Given the description of an element on the screen output the (x, y) to click on. 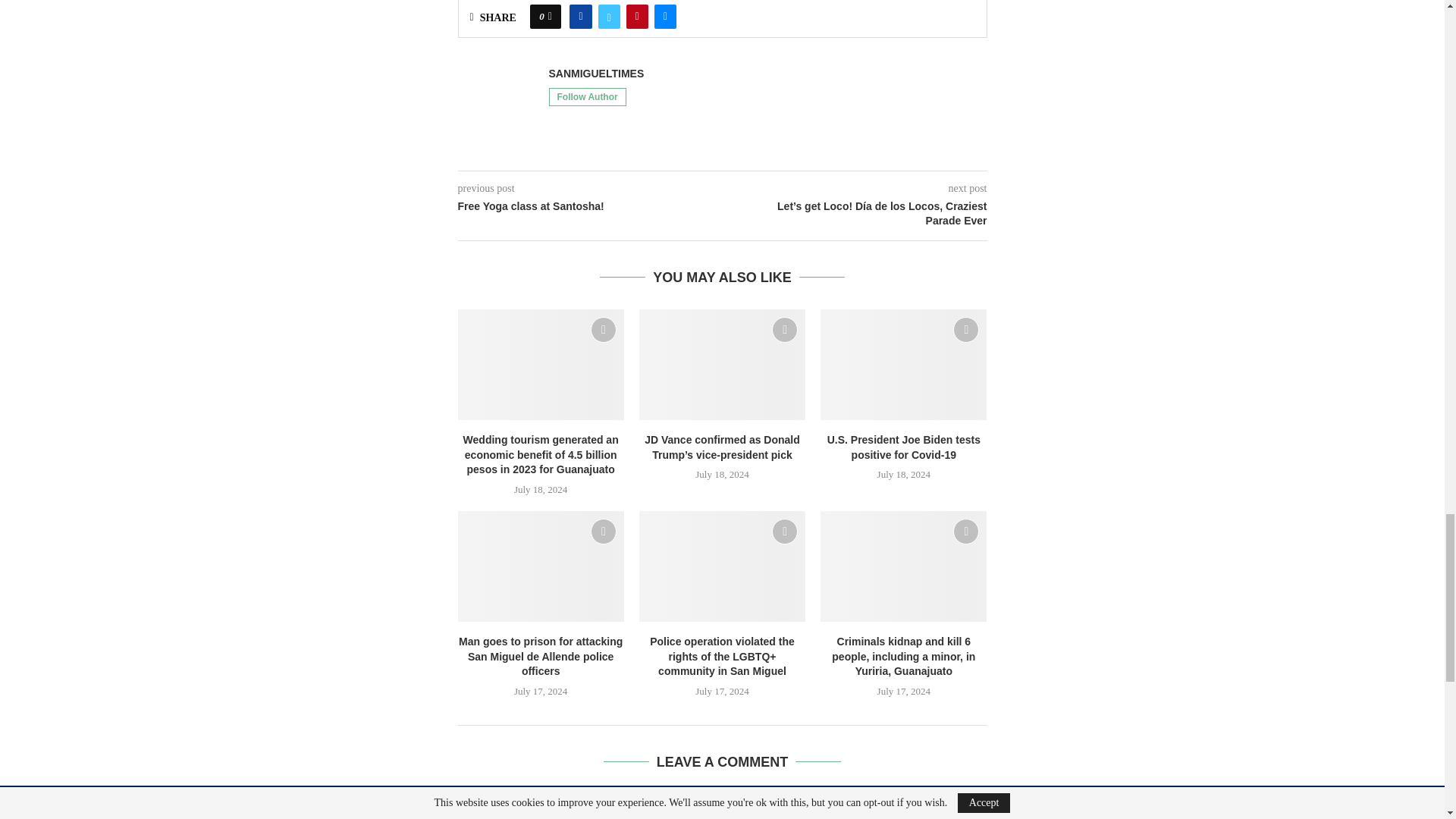
Like (549, 16)
Author sanmigueltimes (596, 73)
U.S. President Joe Biden tests positive for Covid-19 (904, 364)
